Given the description of an element on the screen output the (x, y) to click on. 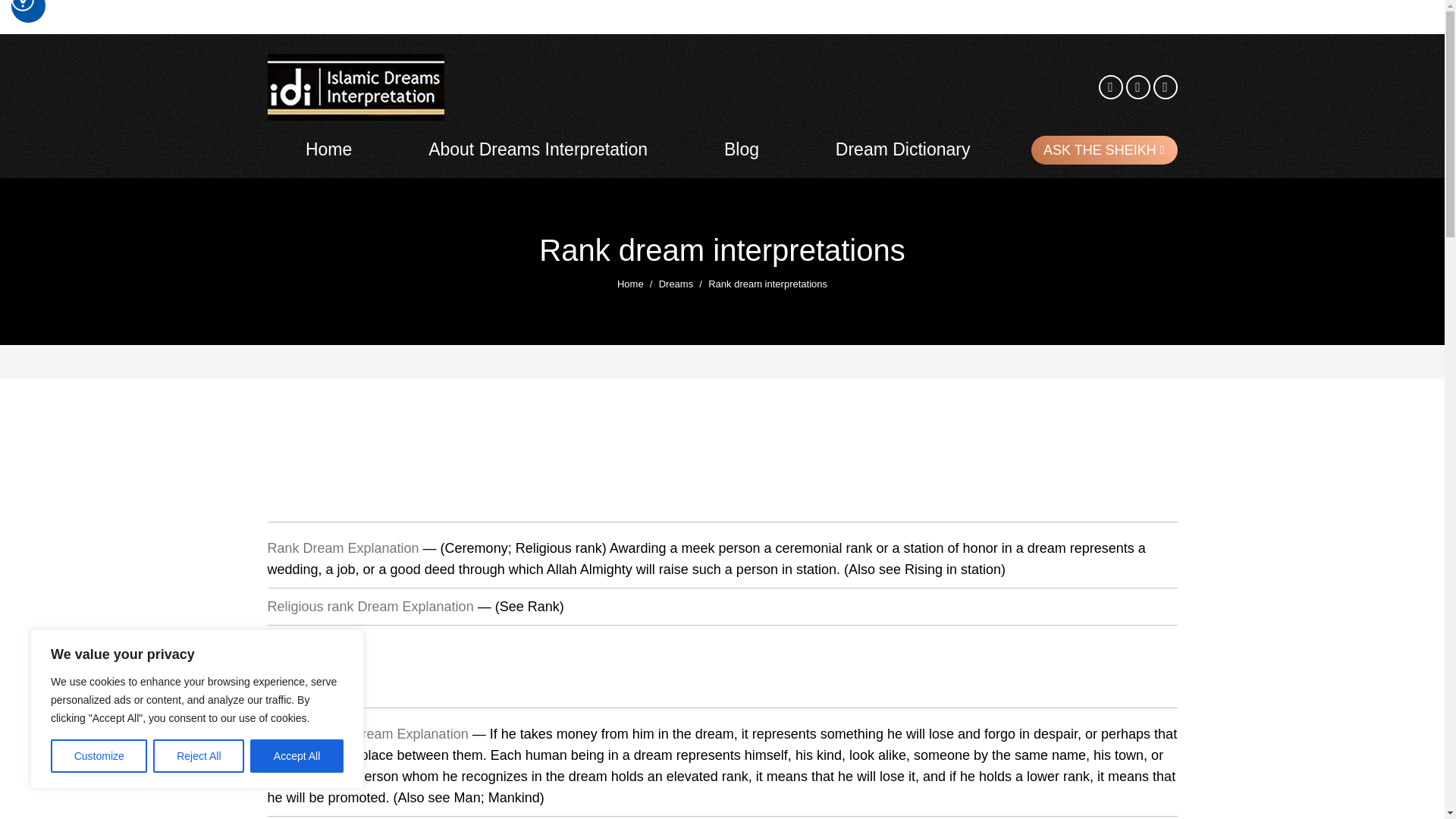
Customize (98, 756)
Dreams (676, 283)
Accept All (296, 756)
Blog (741, 149)
Instagram page opens in new window (1137, 87)
Pinterest page opens in new window (1164, 87)
About Dreams Interpretation (537, 149)
Reject All (198, 756)
Home (328, 149)
Pinterest page opens in new window (1164, 87)
ASK THE SHEIKH (1103, 149)
Facebook page opens in new window (1109, 87)
Facebook page opens in new window (1109, 87)
Dream Dictionary (902, 149)
Instagram page opens in new window (1137, 87)
